Given the description of an element on the screen output the (x, y) to click on. 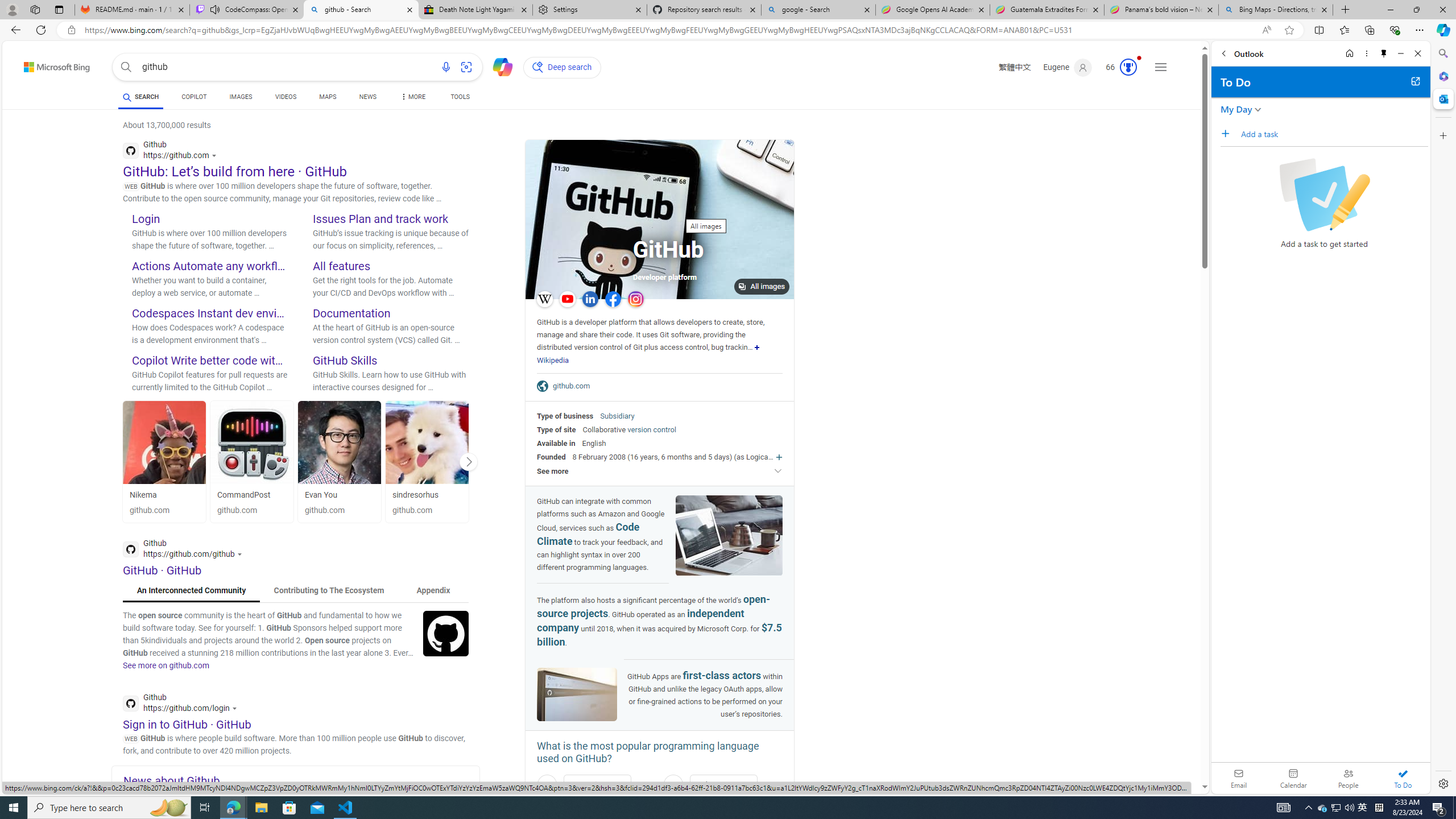
Add a task (1334, 133)
Class: sp-ofsite (542, 385)
sindresorhus (427, 494)
Eugene (1067, 67)
SEARCH (140, 96)
YouTube (567, 299)
All images (659, 219)
google - Search (818, 9)
Nikema (143, 494)
